Given the description of an element on the screen output the (x, y) to click on. 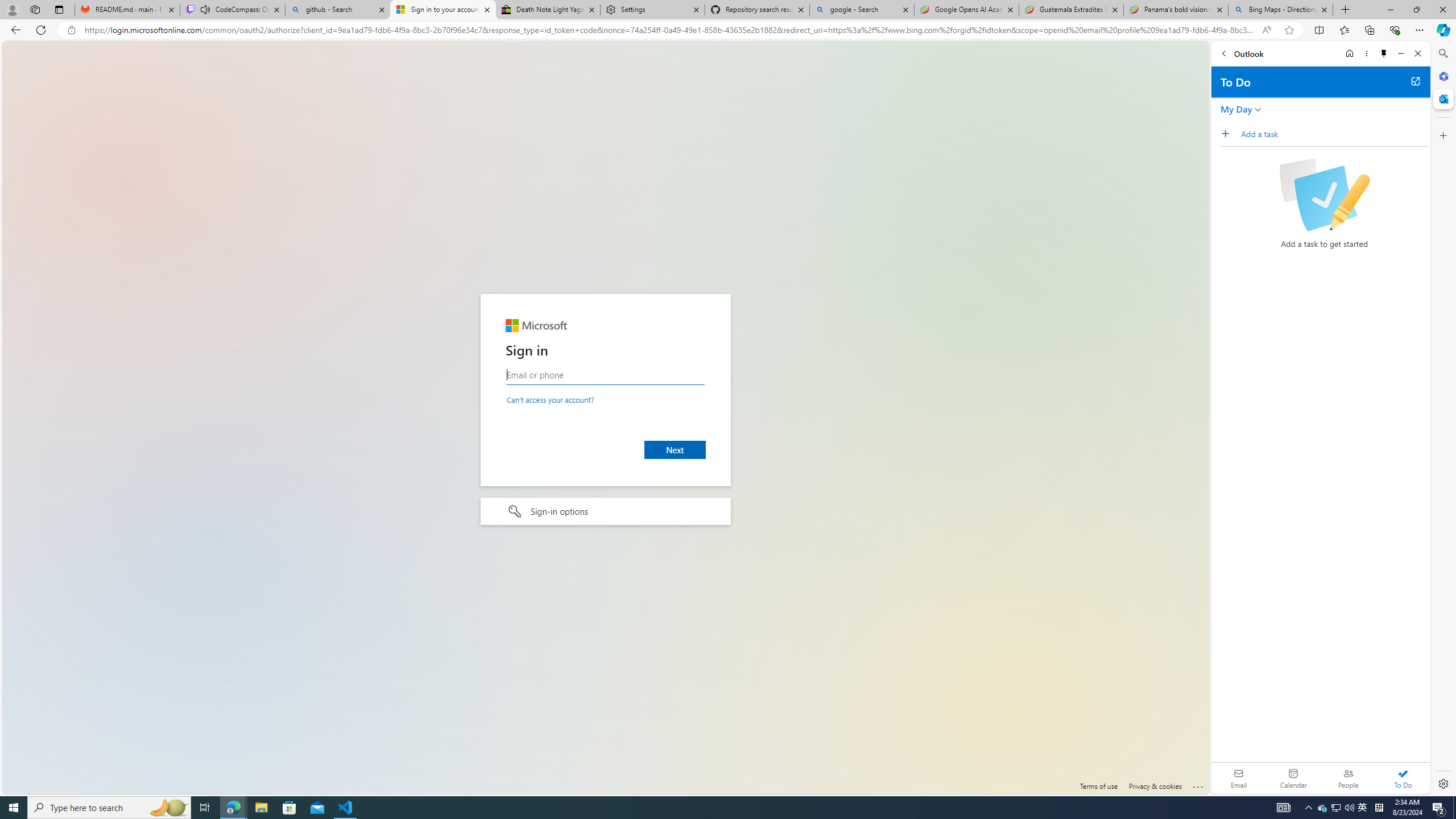
Close Outlook pane (1442, 98)
github - Search (337, 9)
Mute tab (204, 8)
Unpin side pane (1383, 53)
Email (1238, 777)
